Given the description of an element on the screen output the (x, y) to click on. 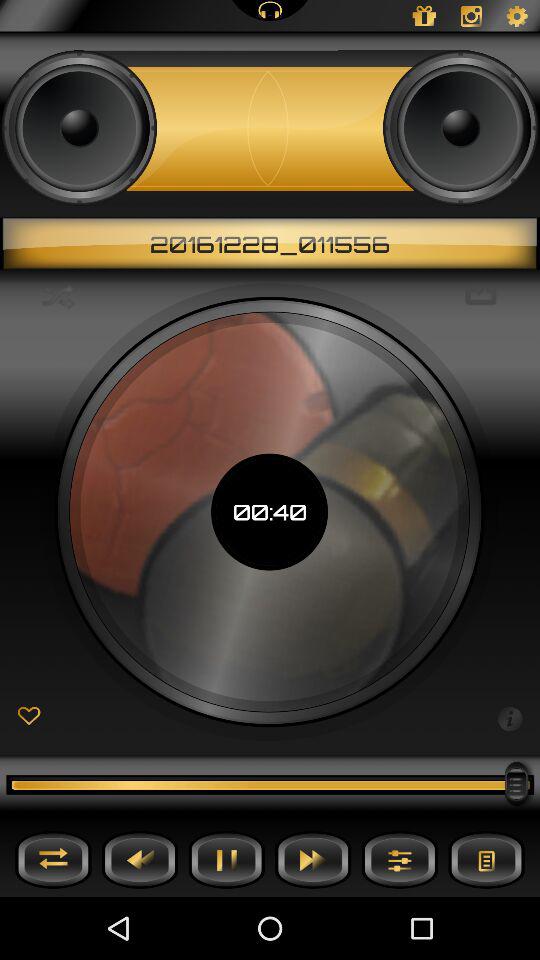
turn off the icon next to the 00:40 item (509, 717)
